Given the description of an element on the screen output the (x, y) to click on. 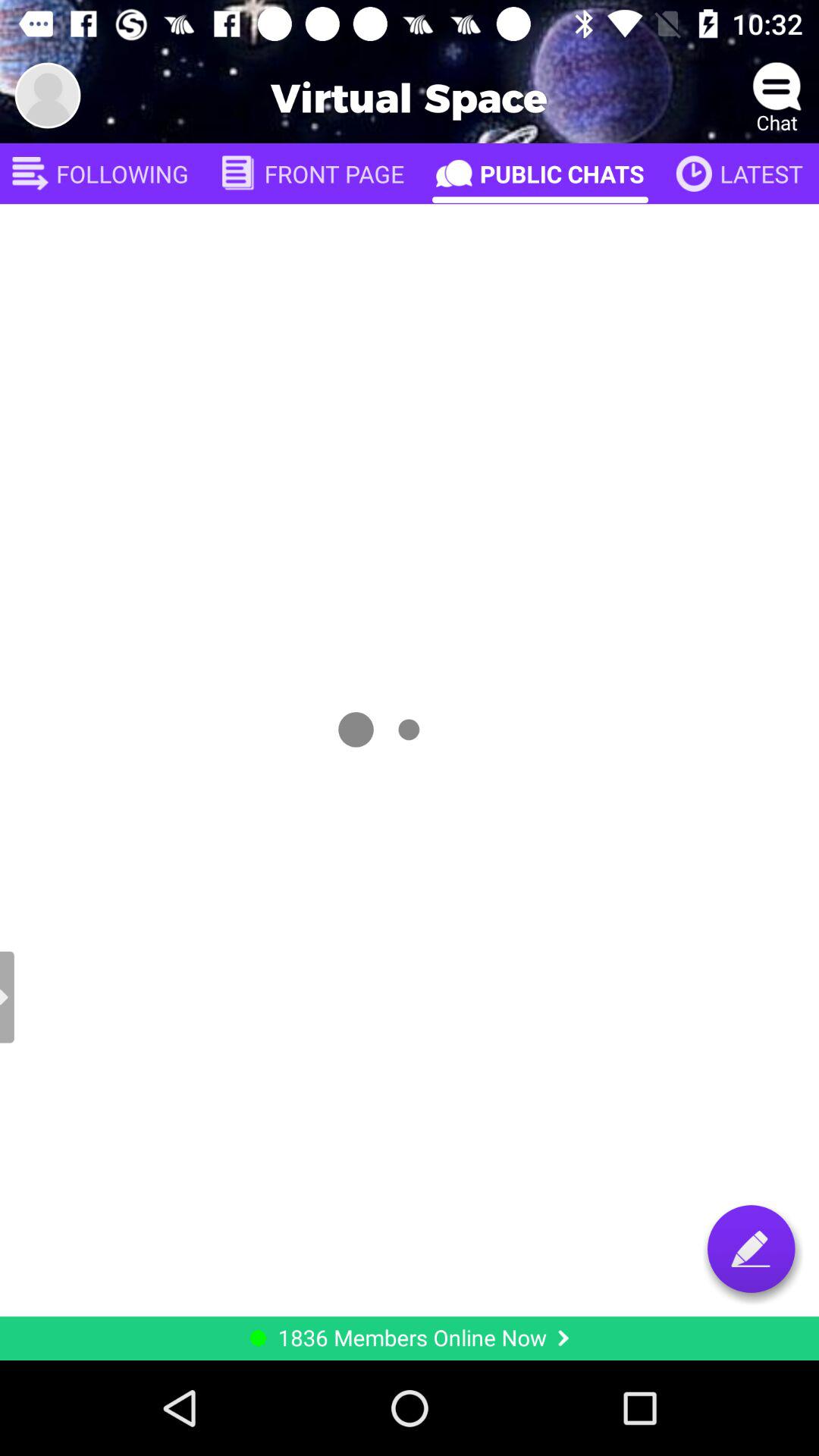
go to view profile (47, 95)
